Given the description of an element on the screen output the (x, y) to click on. 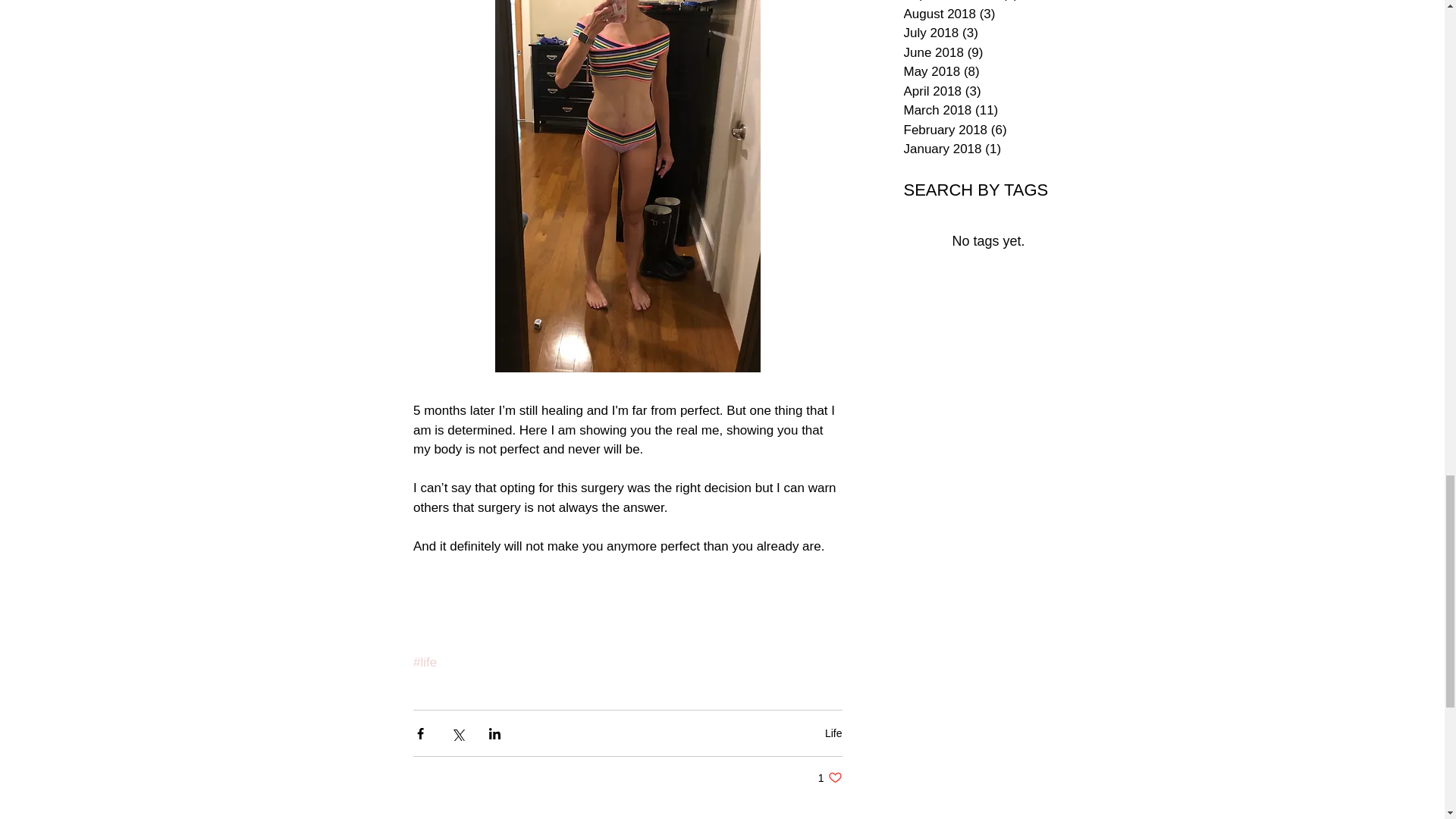
Life (834, 733)
